Given the description of an element on the screen output the (x, y) to click on. 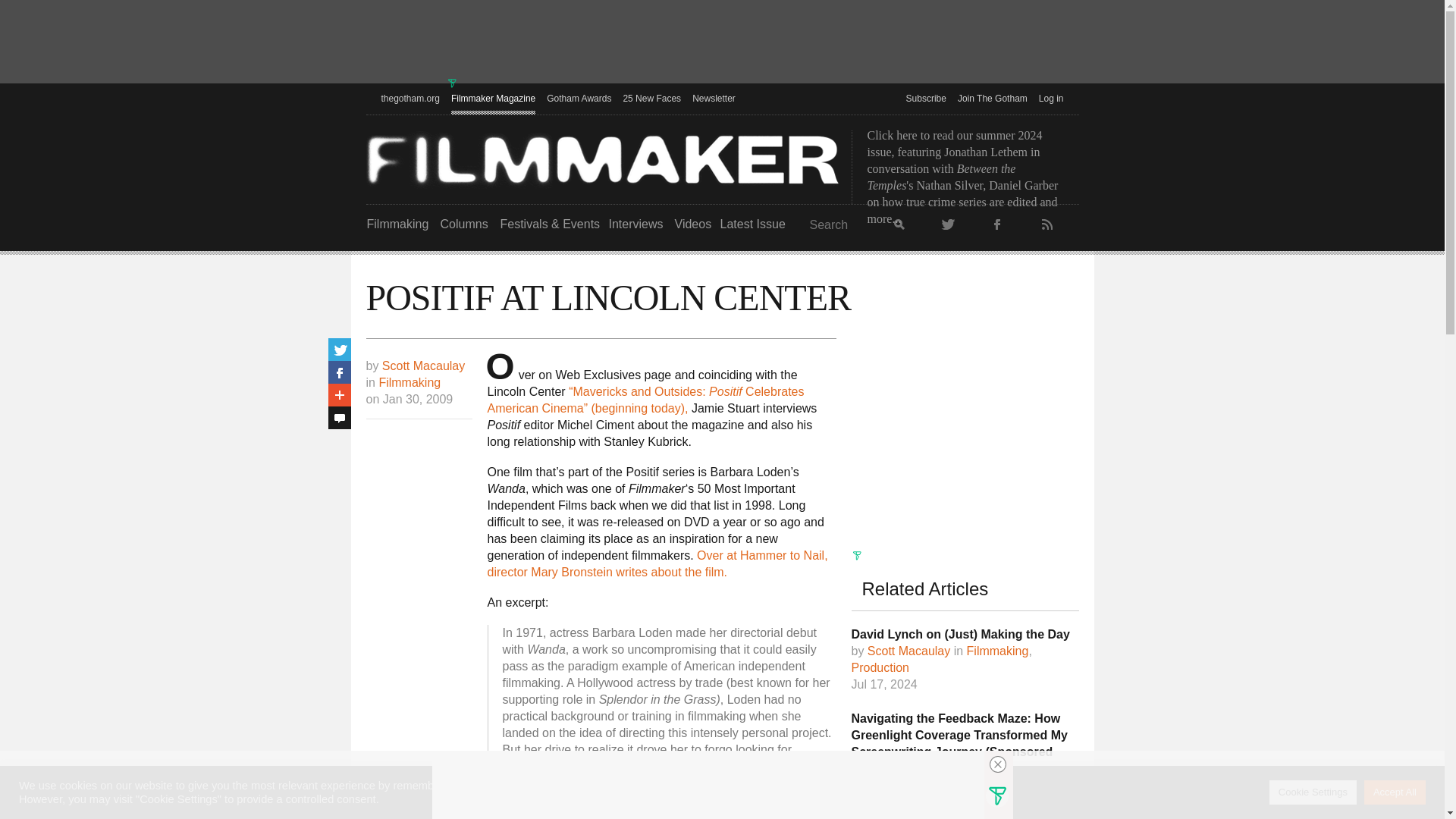
Columns (463, 223)
Filmmaking (397, 223)
Posts by Scott Macaulay (422, 366)
3rd party ad content (721, 43)
Posts by Alyssa Rivera (903, 785)
Posts by Scott Macaulay (908, 651)
3rd party ad content (964, 432)
Filmmaker (602, 159)
